Given the description of an element on the screen output the (x, y) to click on. 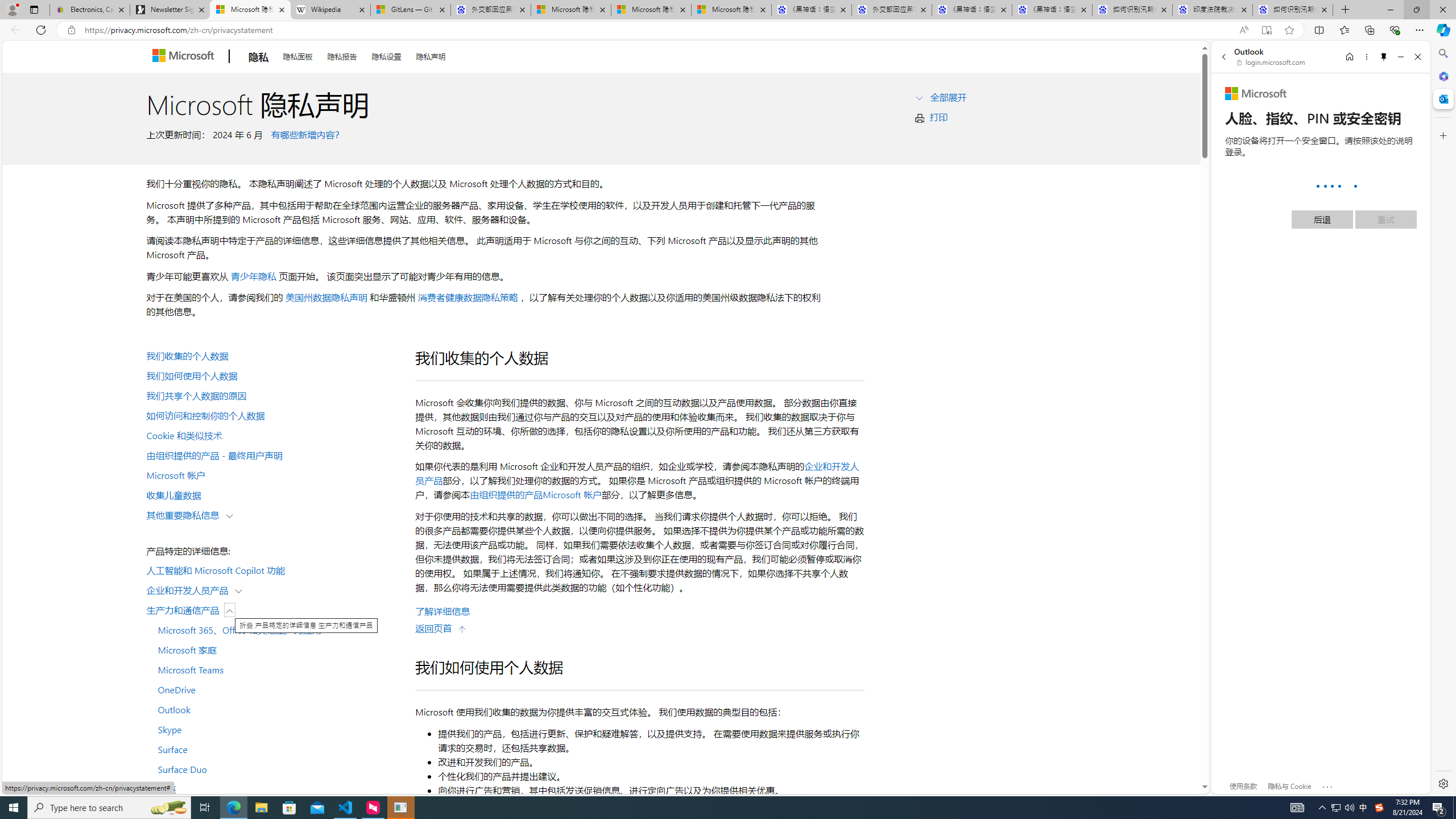
Surface Duo (274, 768)
